Given the description of an element on the screen output the (x, y) to click on. 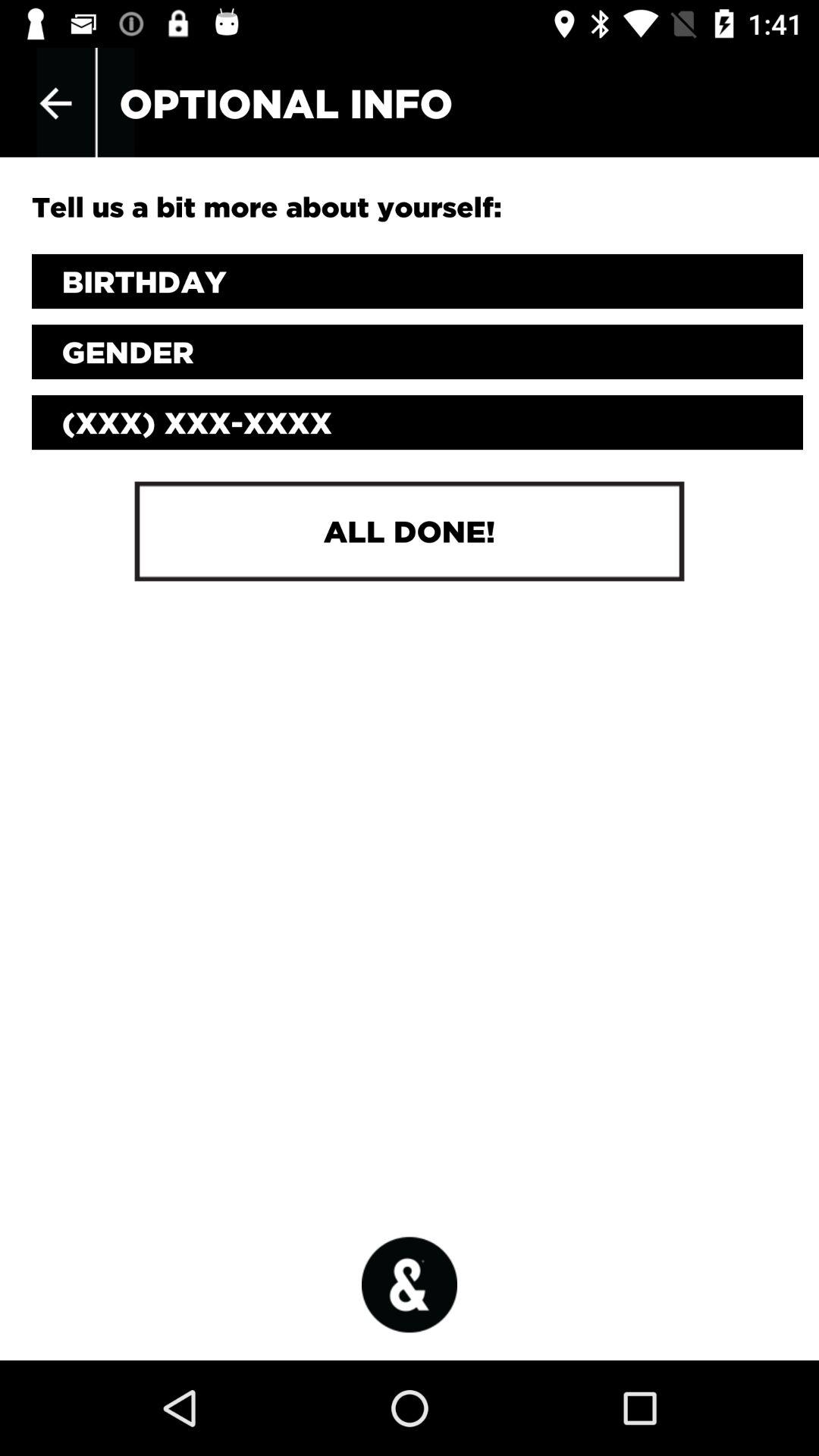
flip until all done! item (409, 531)
